Given the description of an element on the screen output the (x, y) to click on. 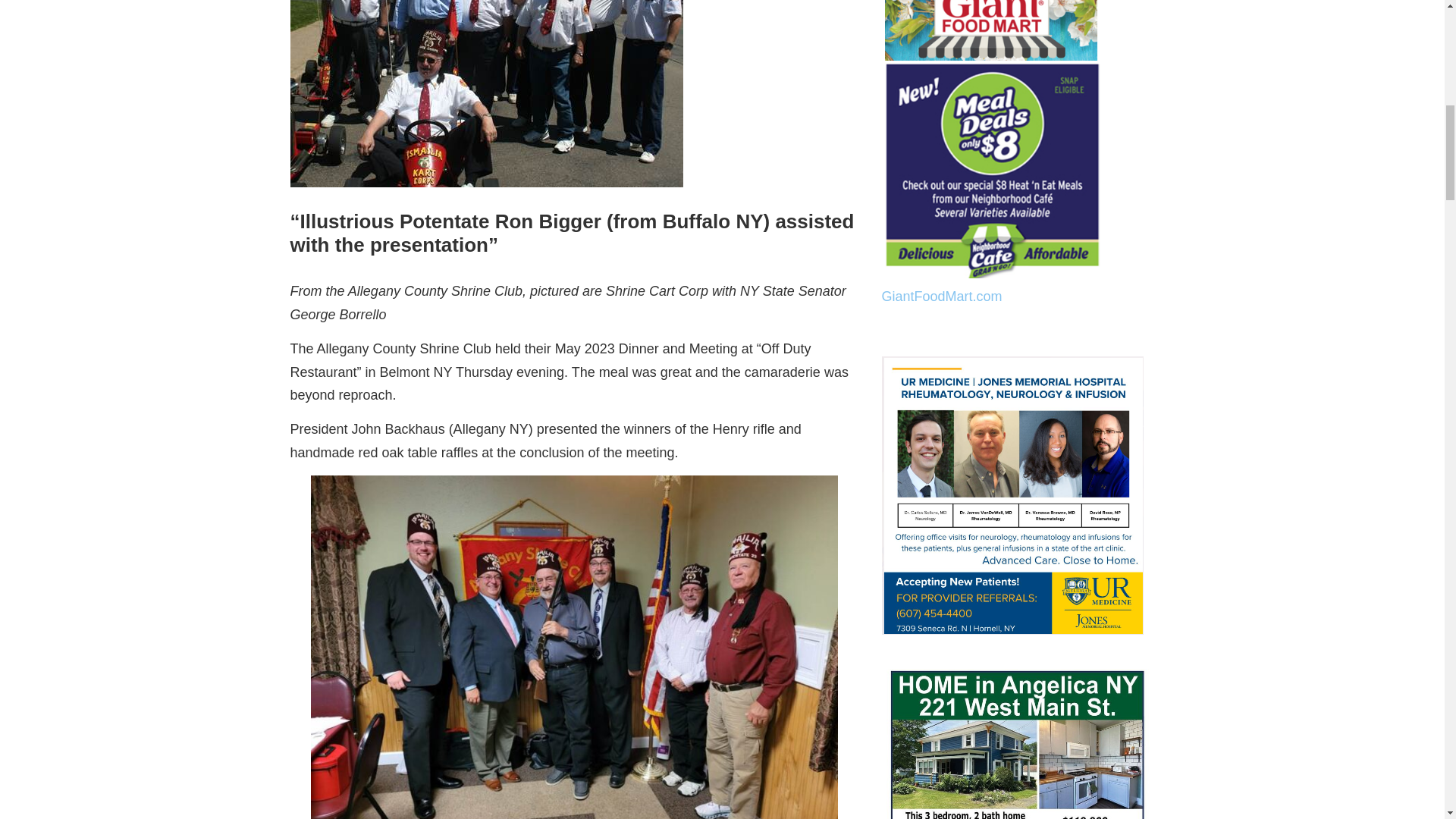
GiantFoodMart.com (940, 296)
